Given the description of an element on the screen output the (x, y) to click on. 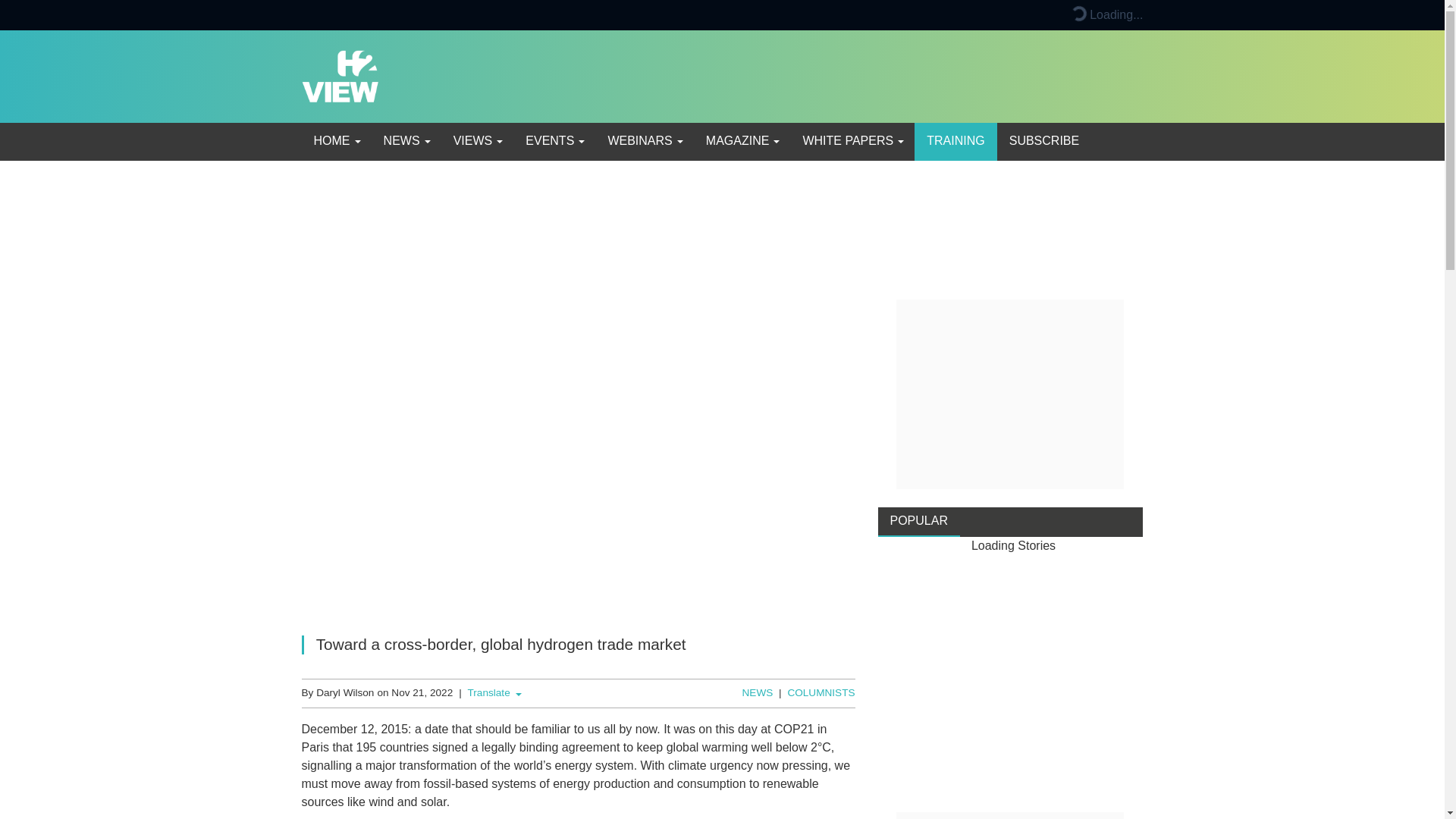
HOME (336, 140)
H2 View (339, 74)
VIEWS (477, 140)
NEWS (406, 140)
News (406, 140)
Home (336, 140)
